Given the description of an element on the screen output the (x, y) to click on. 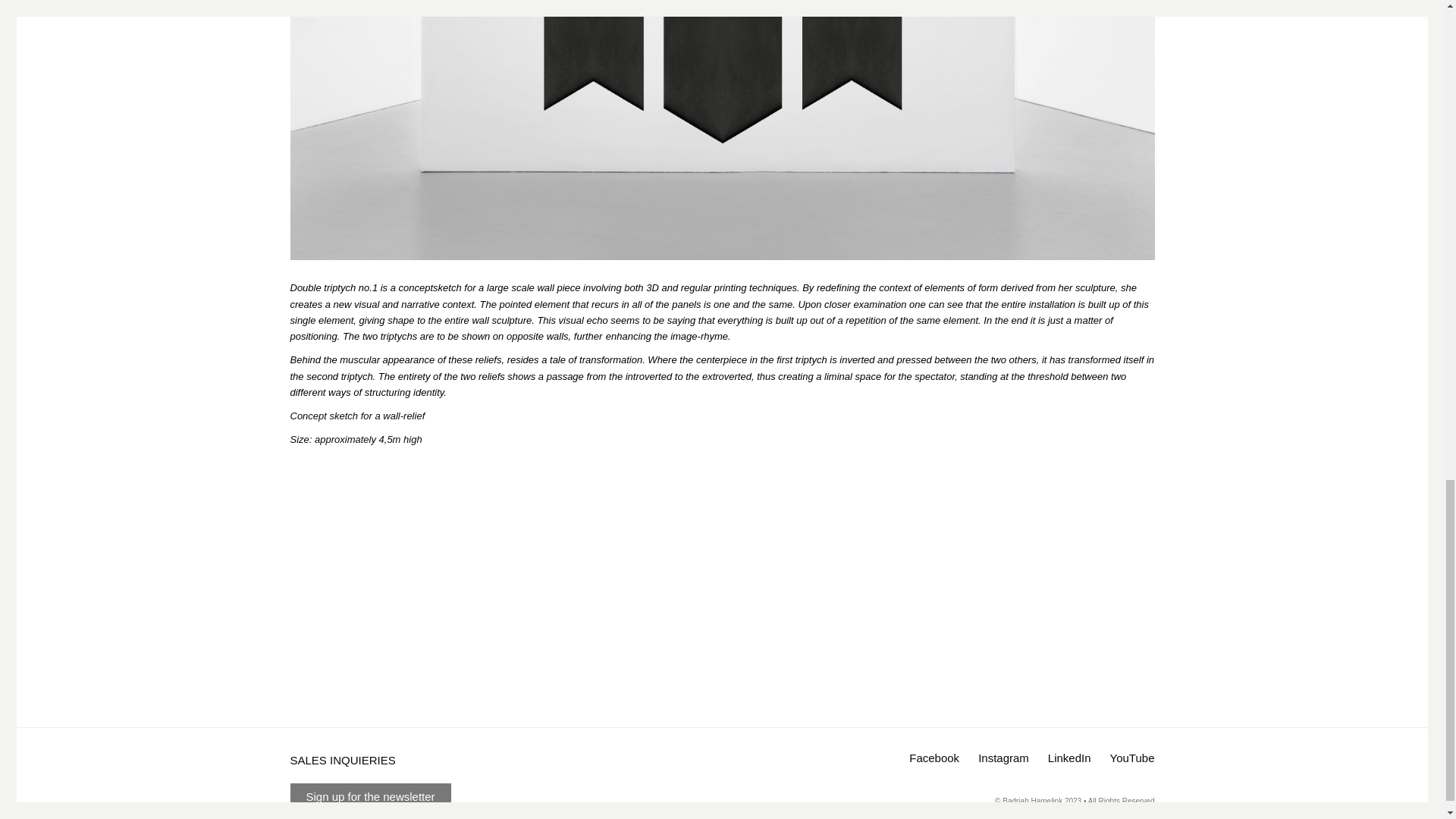
Instagram (1003, 758)
Sign up for the newsletter (369, 796)
Instagram (1003, 758)
Facebook (933, 758)
YouTube (1131, 758)
LinkedIn (1069, 758)
YouTube (1131, 758)
LinkedIn (1069, 758)
Facebook (933, 758)
SALES INQUIERIES (341, 760)
